Given the description of an element on the screen output the (x, y) to click on. 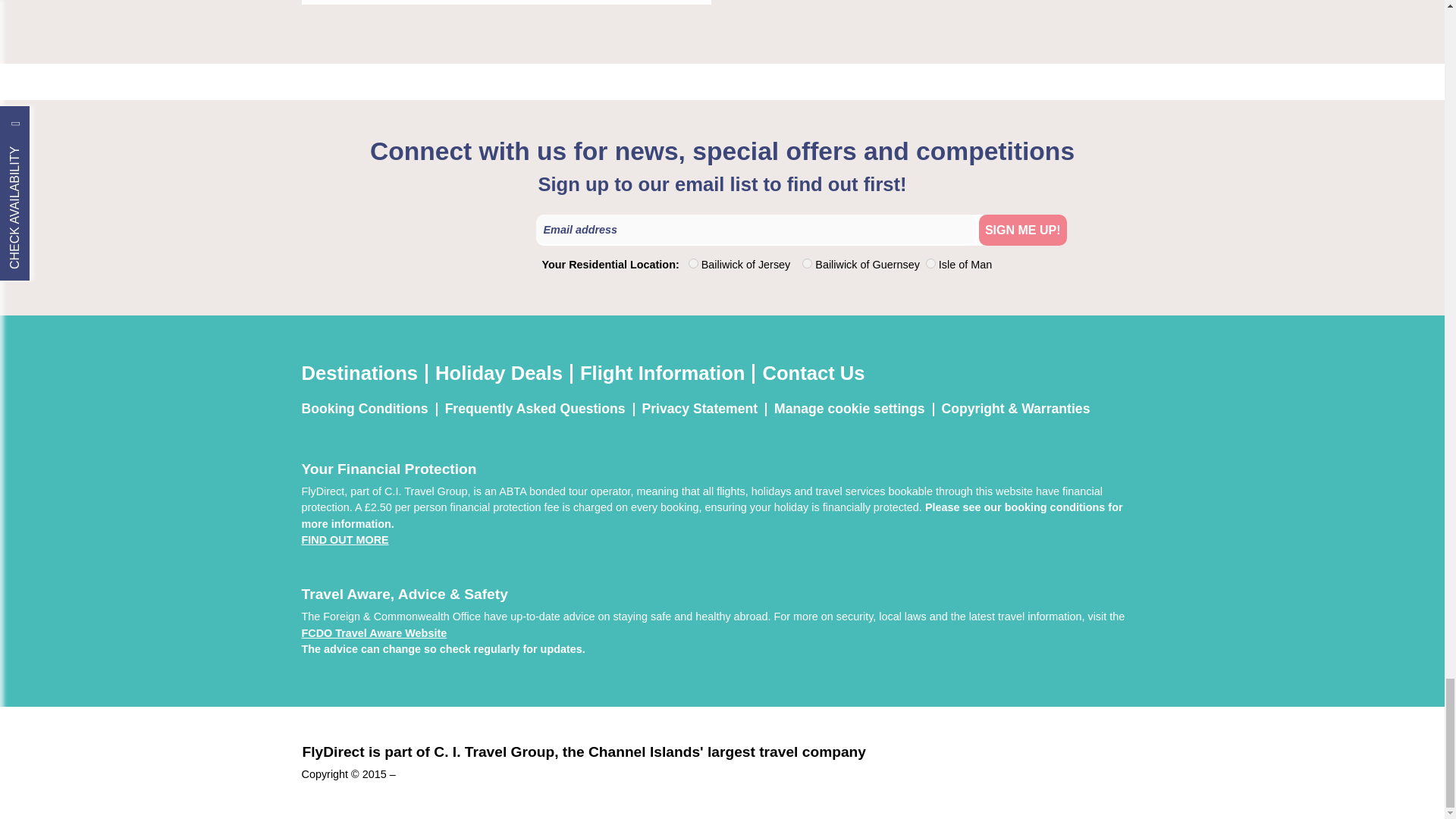
Sign me up! (1022, 229)
FCDO Travel Aware Website (373, 633)
Isle of Man (931, 263)
Email address (755, 229)
Bailiwick of Jersey (693, 263)
Bailiwick of Guernsey (807, 263)
